Given the description of an element on the screen output the (x, y) to click on. 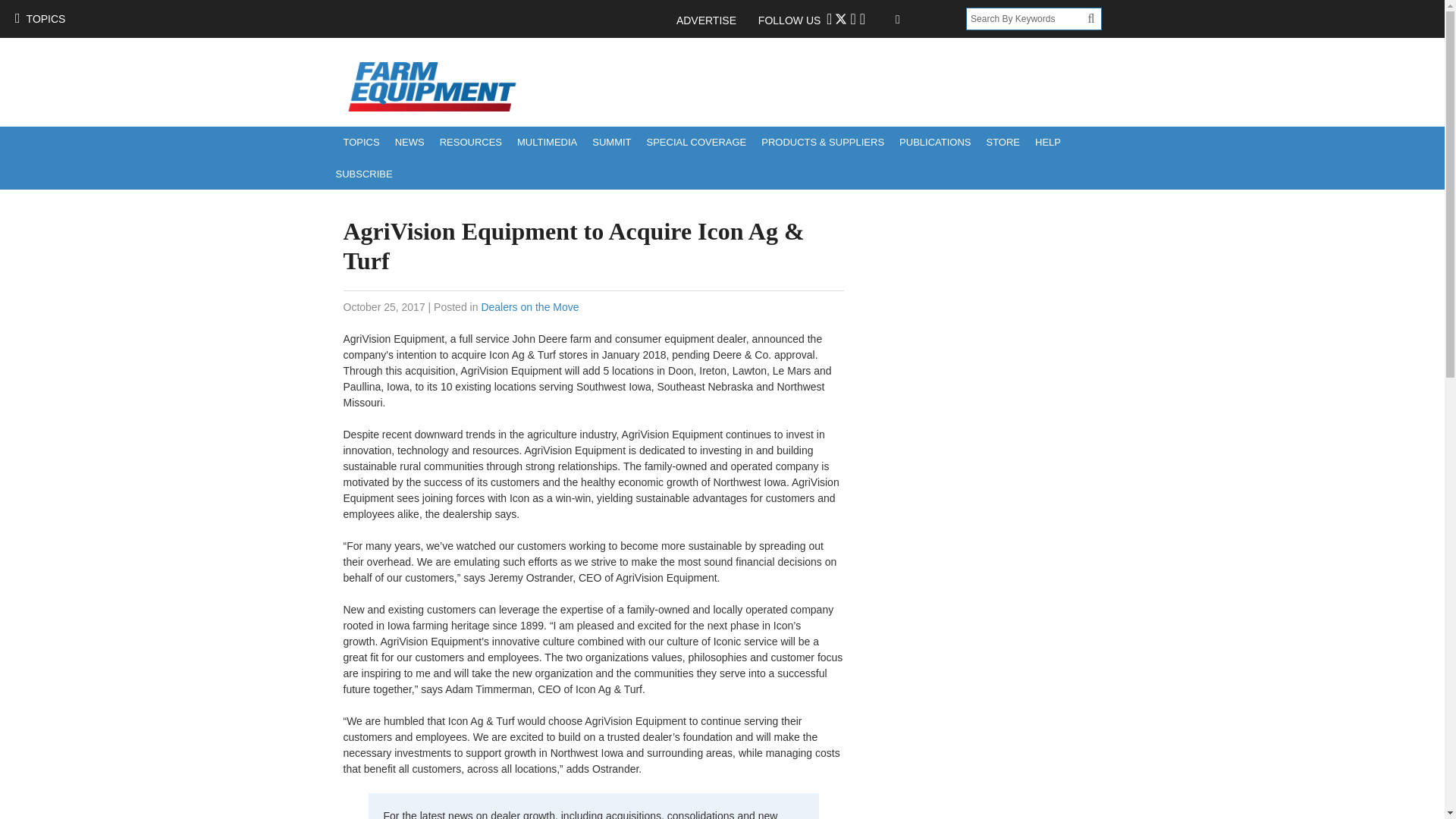
TOPICS (360, 142)
Search By Keywords (1026, 18)
ADVERTISE (714, 20)
TOPICS (39, 18)
Search By Keywords (1026, 18)
